Given the description of an element on the screen output the (x, y) to click on. 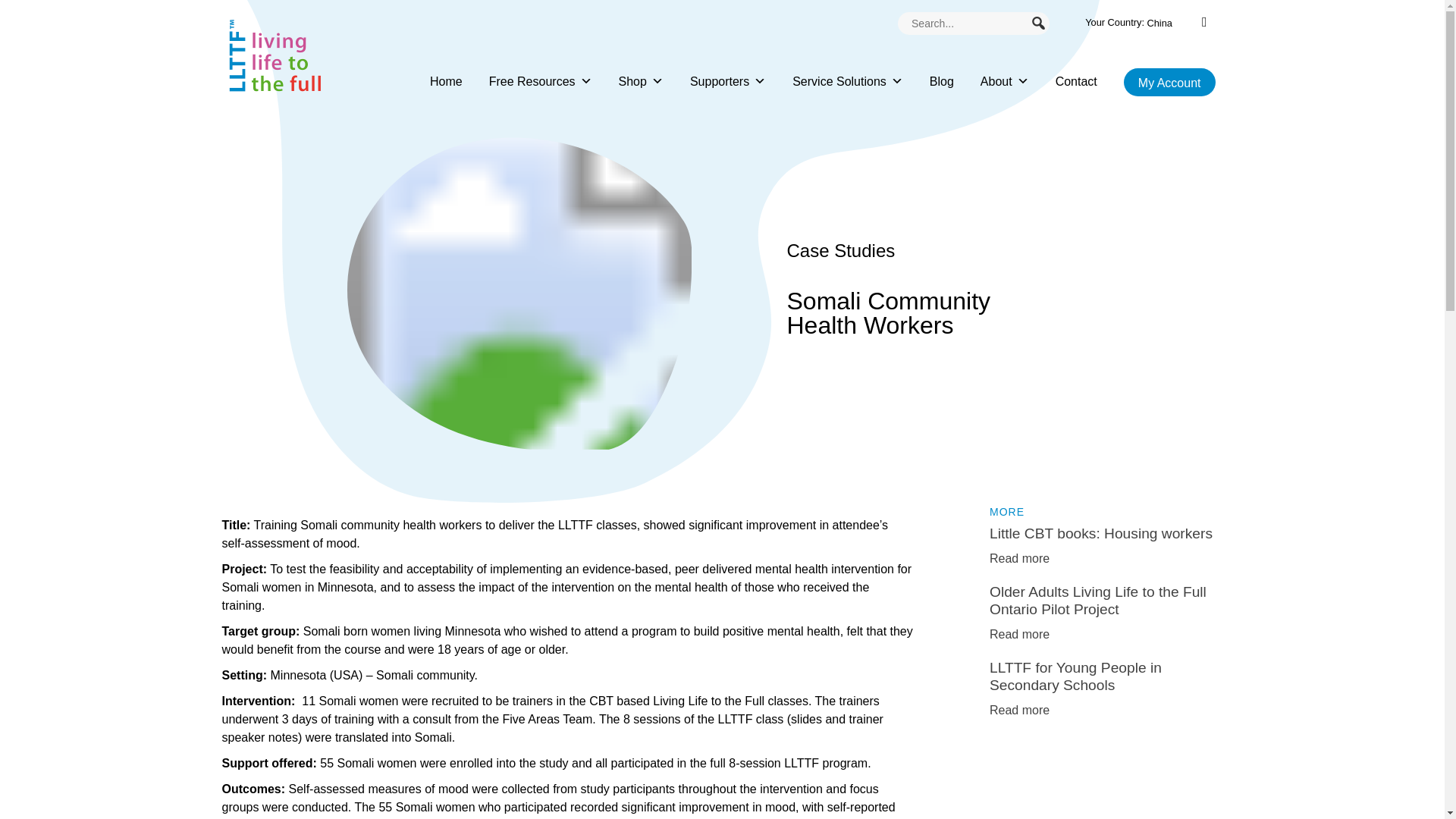
Little CBT books: Housing workers (1019, 558)
LLTTF for Young People in Secondary Schools (1019, 709)
Free Resources (540, 54)
Search (44, 19)
Little CBT books: Housing workers (1101, 533)
Older Adults Living Life to the Full Ontario Pilot Project (1098, 600)
LLTTF for Young People in Secondary Schools (1075, 676)
China (1159, 22)
Older Adults Living Life to the Full Ontario Pilot Project (1019, 634)
